Given the description of an element on the screen output the (x, y) to click on. 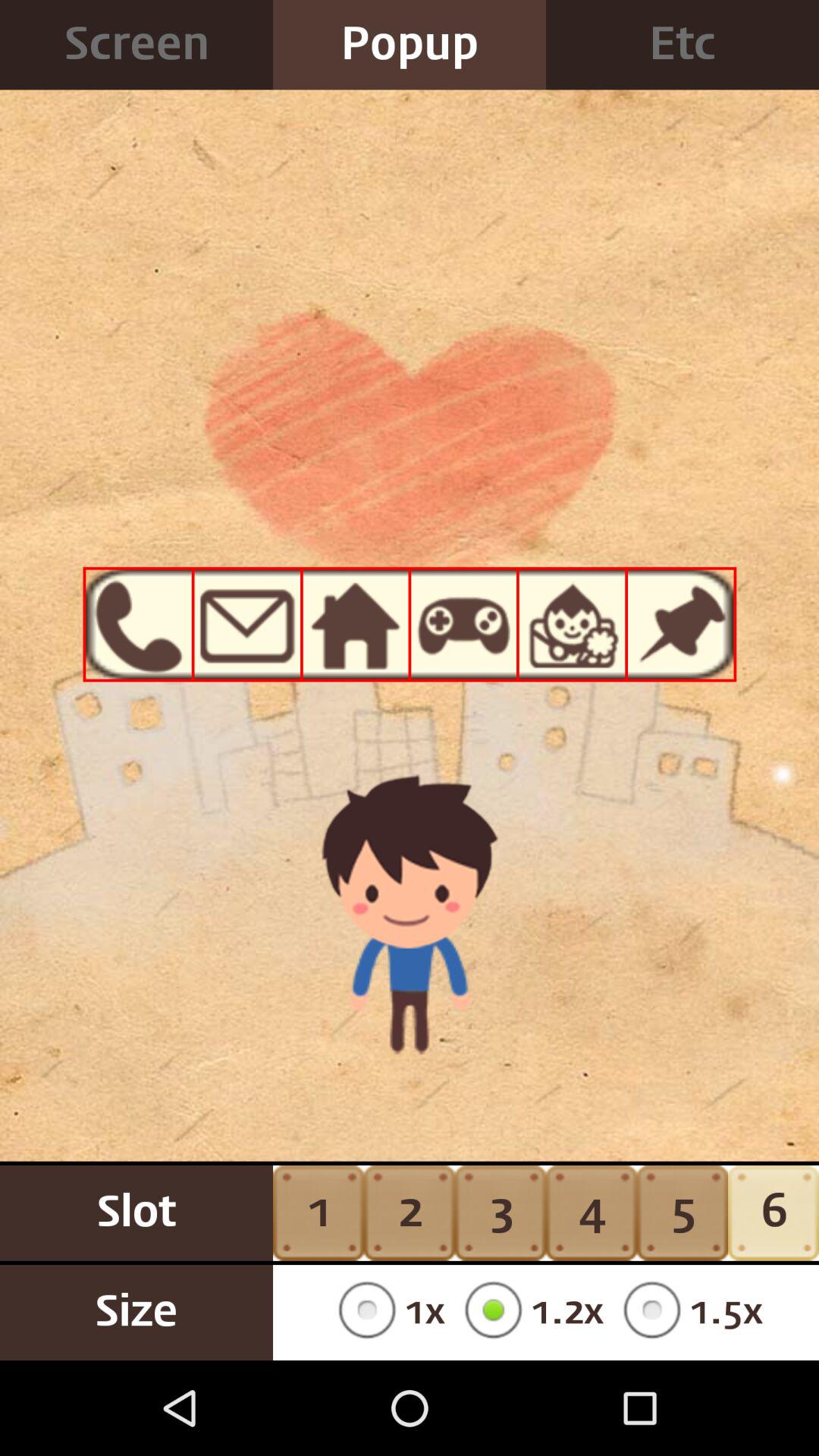
scroll to 4 button (591, 1212)
